Given the description of an element on the screen output the (x, y) to click on. 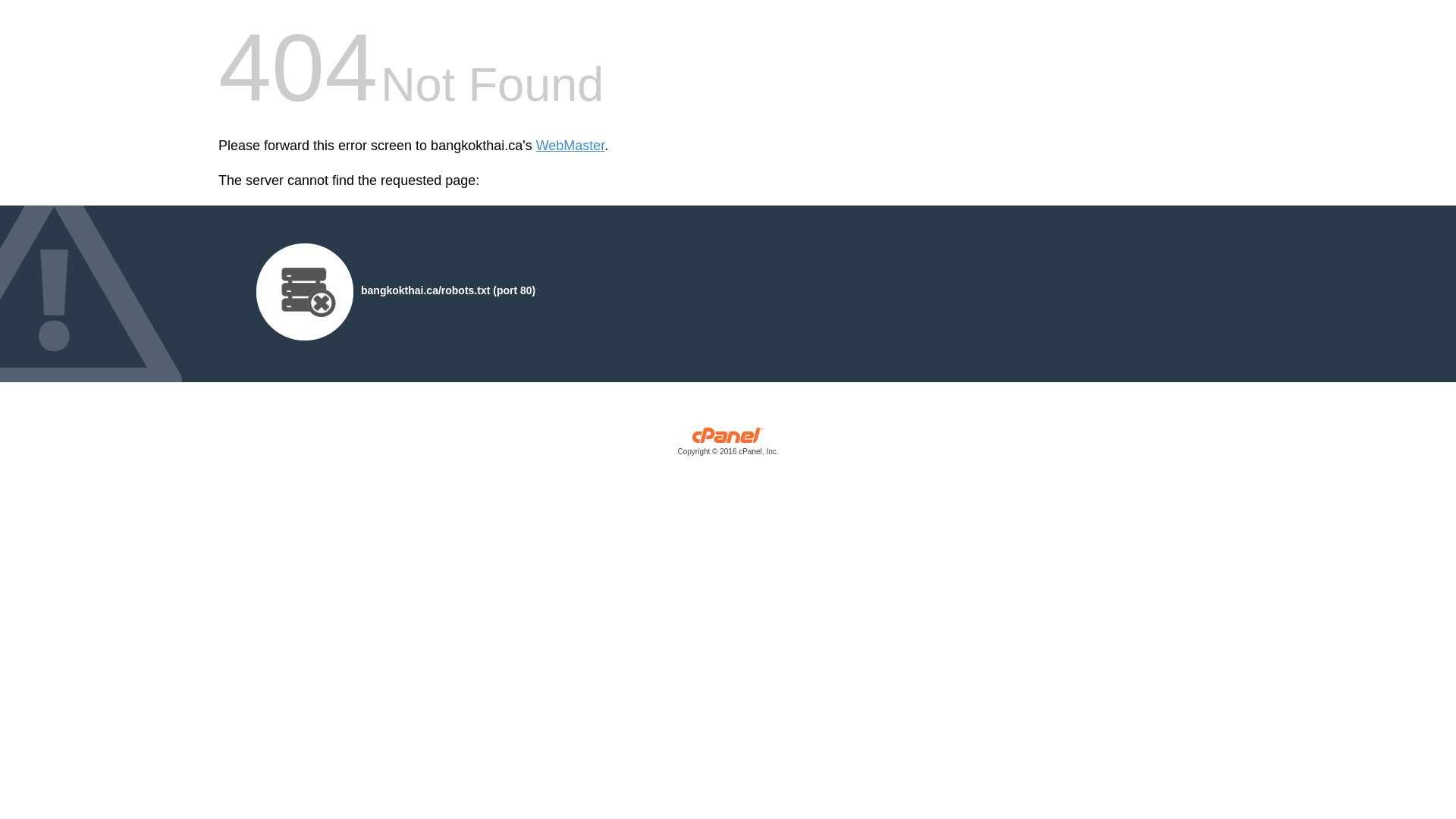
WebMaster Element type: text (570, 145)
